Given the description of an element on the screen output the (x, y) to click on. 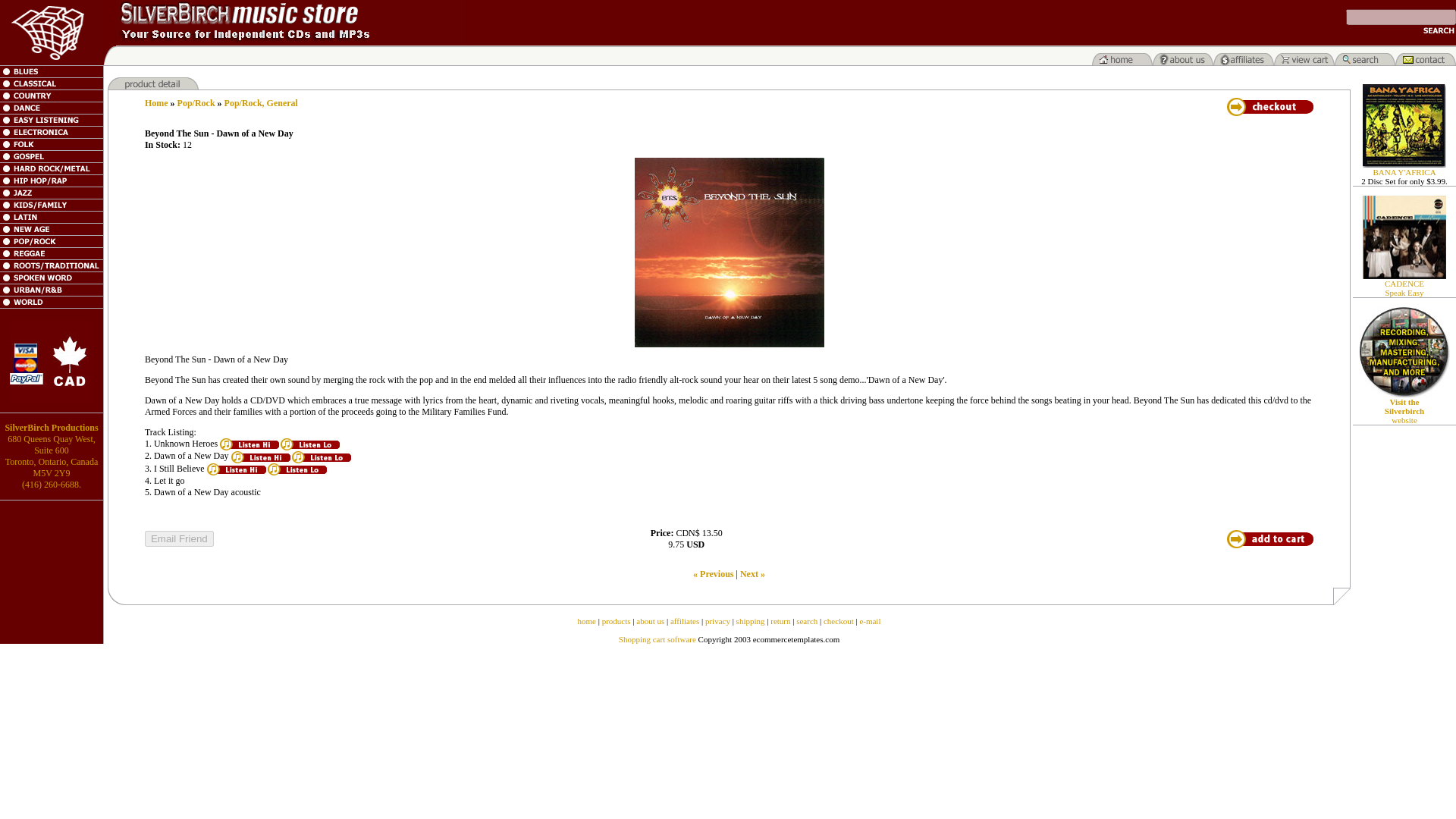
products (616, 620)
home (586, 620)
Email Friend (179, 538)
Home (156, 102)
